Given the description of an element on the screen output the (x, y) to click on. 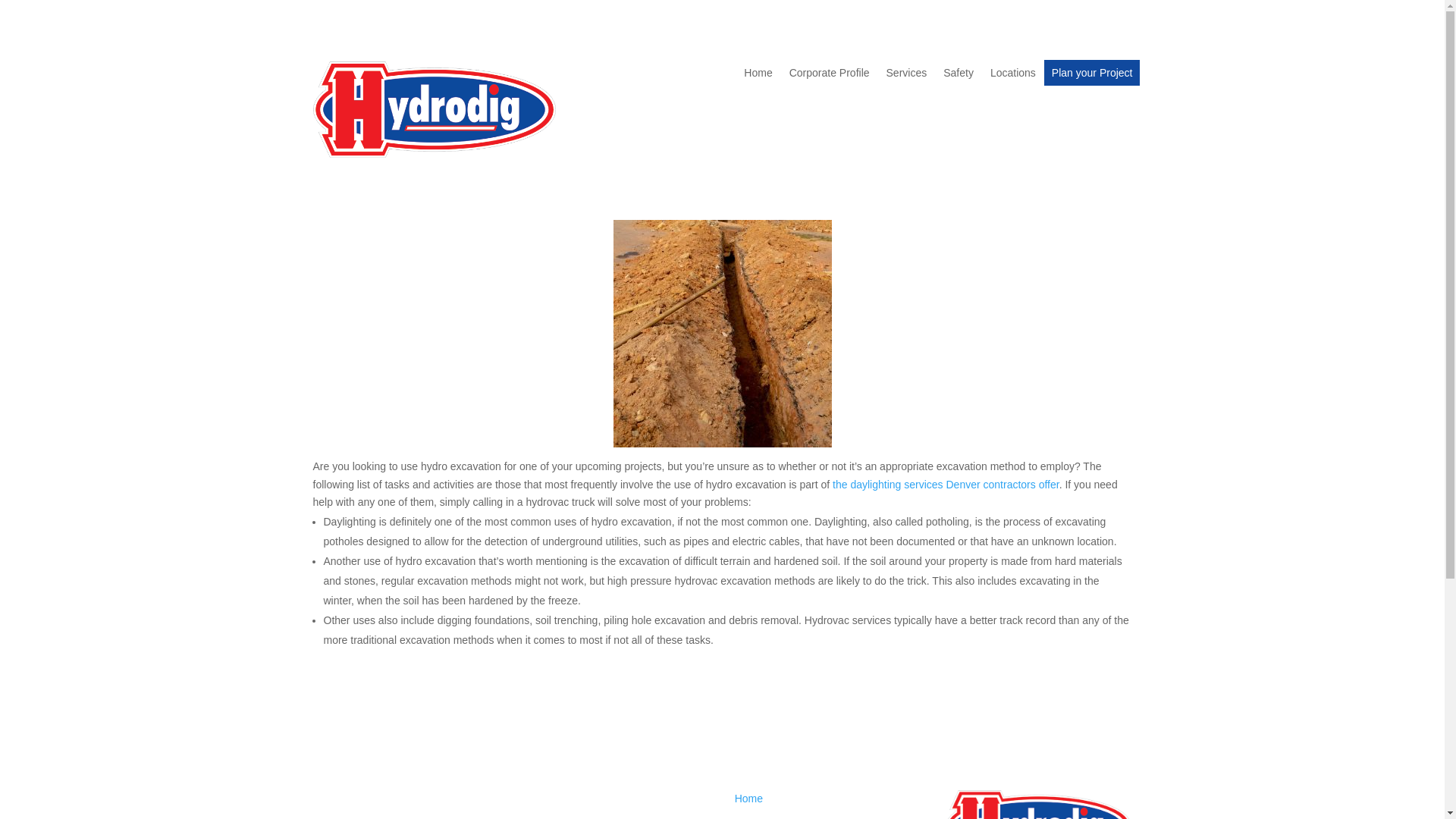
Services (906, 76)
Locations (1012, 76)
Corporate Profile (829, 76)
HYDRODIG-LOGO (1038, 804)
the daylighting services Denver contractors offer (945, 484)
Plan your Project (1091, 72)
HYDRODIG-LOGO (433, 109)
Safety (958, 76)
Home (748, 798)
Home (757, 76)
